Given the description of an element on the screen output the (x, y) to click on. 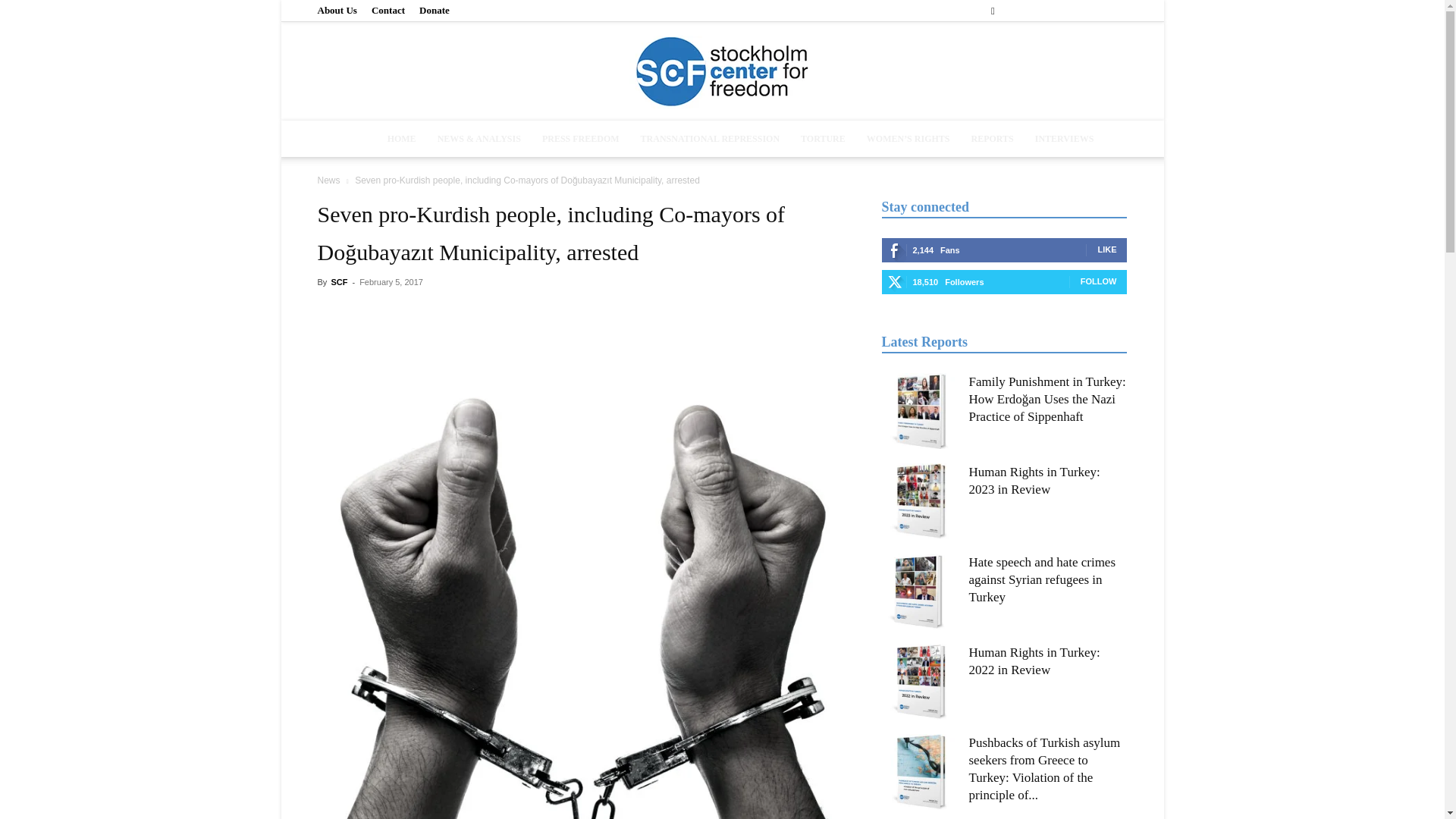
Linkedin (1065, 10)
HOME (401, 138)
REPORTS (991, 138)
Twitter (1090, 10)
Youtube (1114, 10)
PRESS FREEDOM (580, 138)
TORTURE (823, 138)
Search (1085, 64)
Contact (387, 9)
INTERVIEWS (1065, 138)
